Given the description of an element on the screen output the (x, y) to click on. 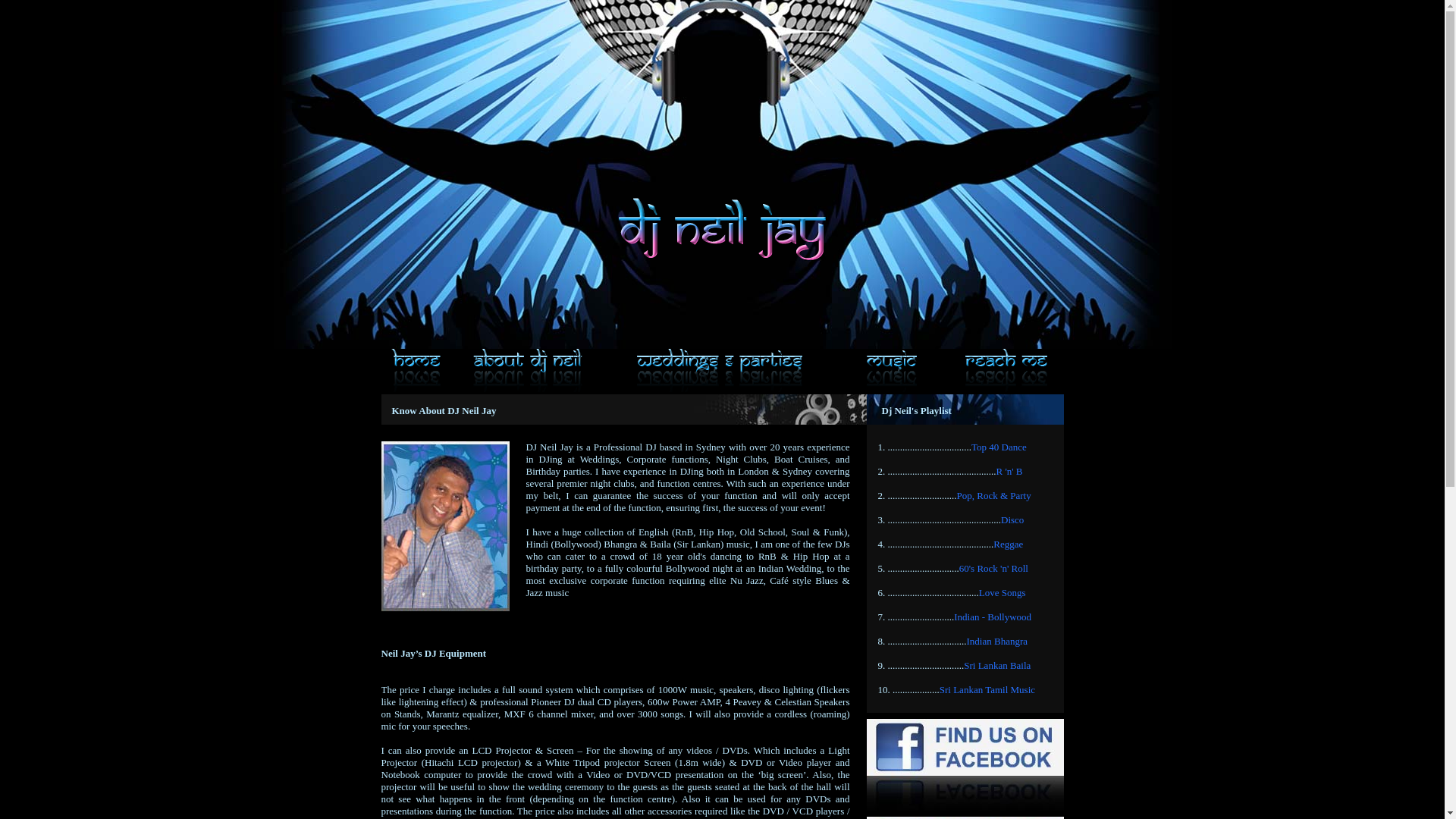
Reggae Element type: text (1007, 543)
Indian Bhangra Element type: text (996, 640)
R 'n' B Element type: text (1009, 470)
Sri Lankan Baila Element type: text (996, 665)
Pop, Rock & Party Element type: text (994, 495)
Sri Lankan Tamil Music Element type: text (987, 689)
Top 40 Dance Element type: text (998, 446)
Love Songs Element type: text (1002, 592)
60's Rock 'n' Roll Element type: text (993, 568)
Indian - Bollywood Element type: text (992, 616)
Disco Element type: text (1012, 519)
